Given the description of an element on the screen output the (x, y) to click on. 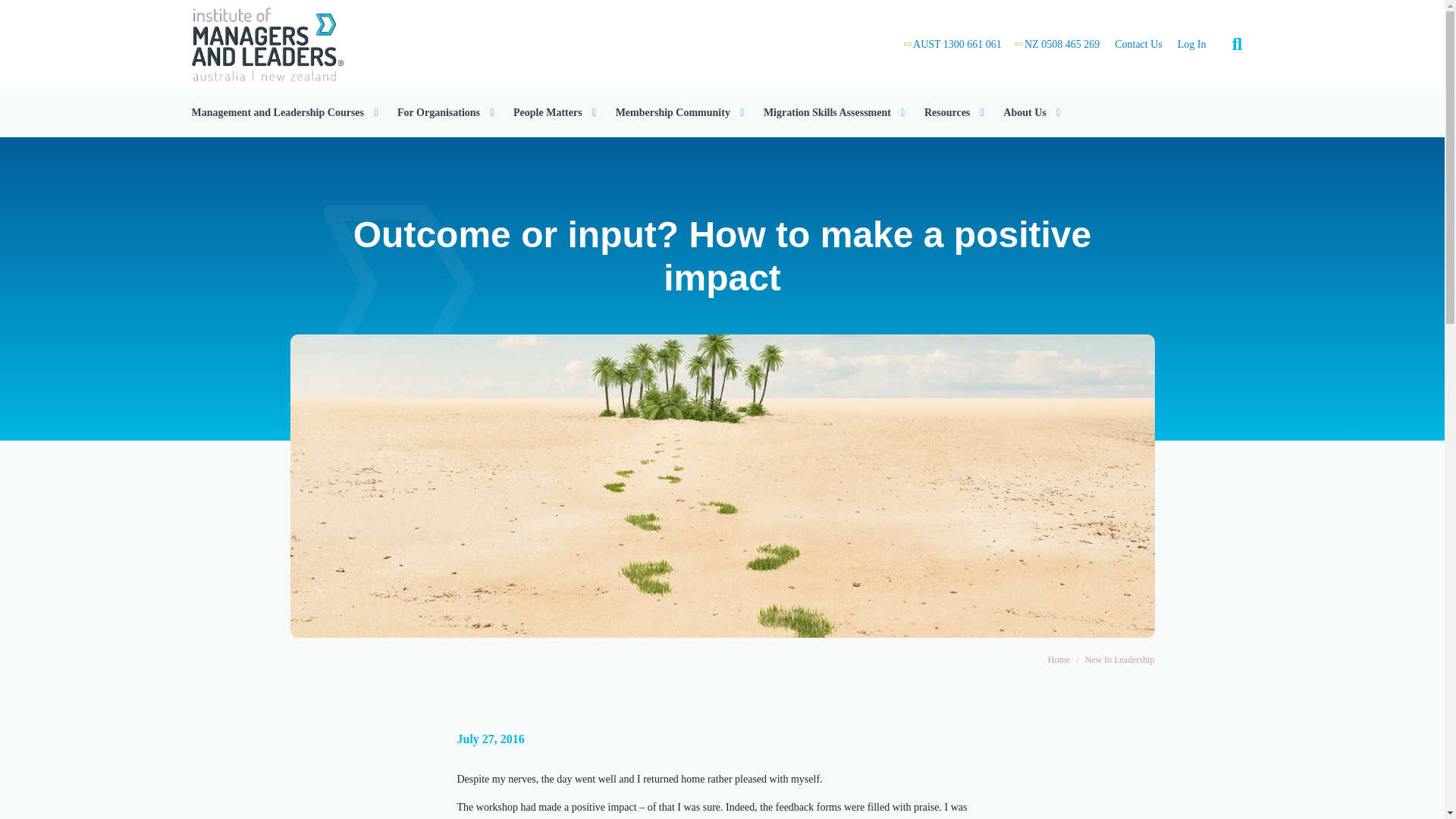
Toggle About Us menu (1033, 112)
Toggle Management and Leadership Courses menu (285, 112)
Toggle For Organisations menu (447, 112)
Toggle Migration Skills Assessment menu (835, 112)
Log In (1192, 43)
Contact Us (1138, 43)
Search (1394, 43)
NZ 0508 465 269 (1062, 43)
Toggle People Matters menu (556, 112)
Management and Leadership Courses (285, 112)
People Matters (556, 112)
Home (266, 43)
For Organisations (447, 112)
AUST 1300 661 061 (956, 43)
Toggle Membership Community menu (681, 112)
